Given the description of an element on the screen output the (x, y) to click on. 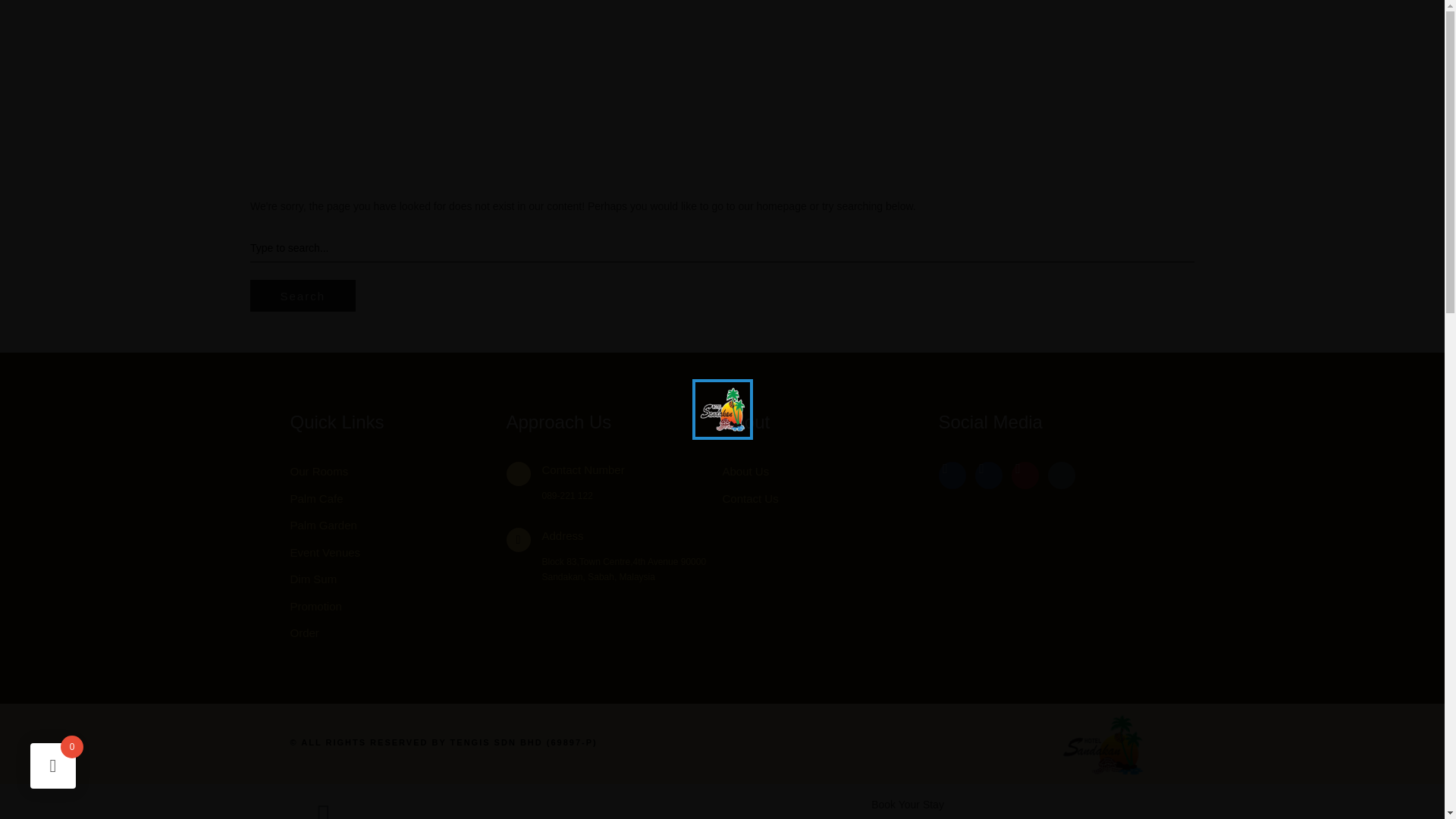
About Us (829, 471)
Search (302, 296)
Palm Garden (397, 525)
Contact Us (829, 498)
Our Rooms (397, 471)
Event Venues (397, 552)
Order (397, 632)
Promotion (397, 606)
Search (302, 296)
Book Your Stay (906, 804)
